Given the description of an element on the screen output the (x, y) to click on. 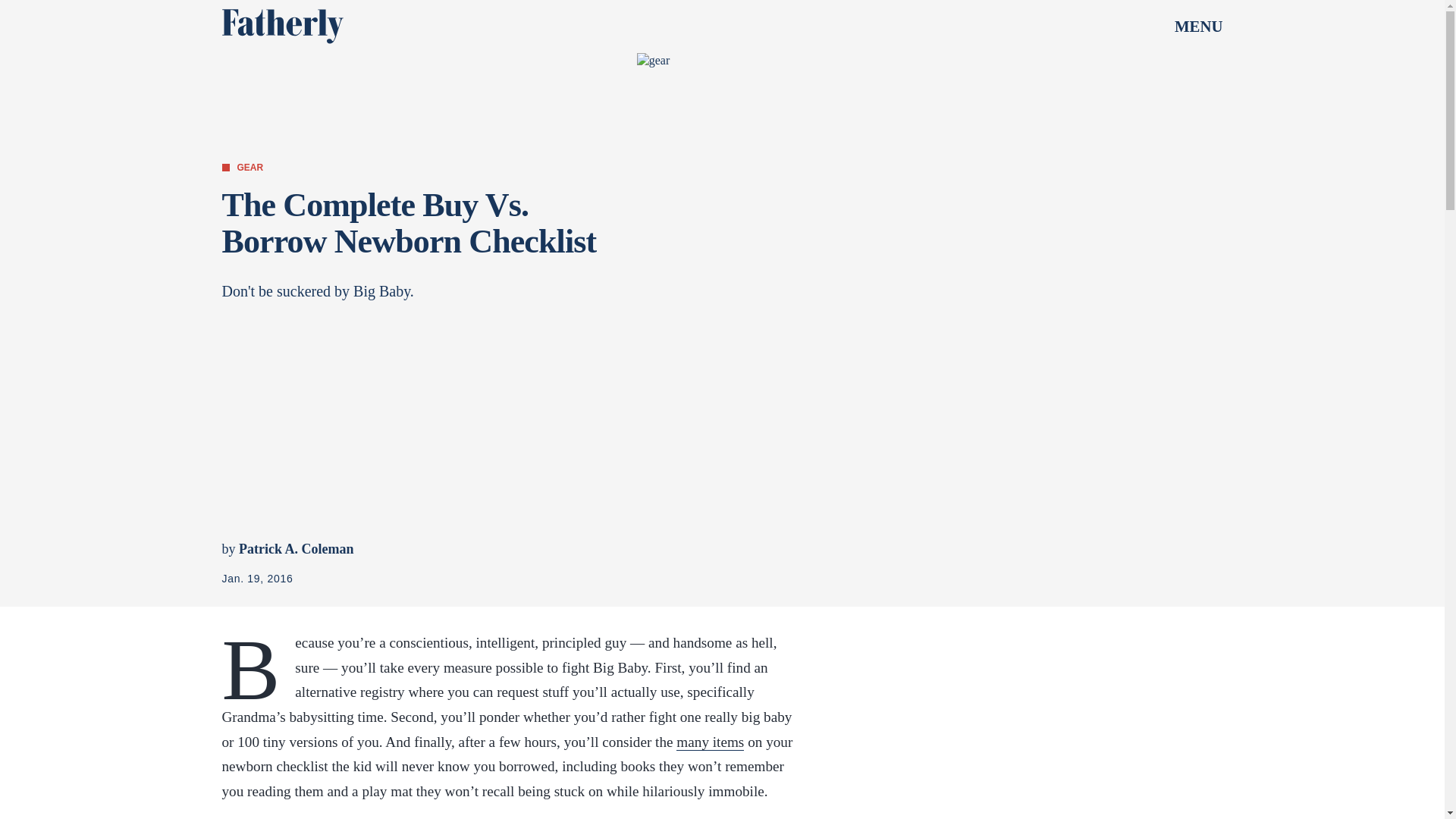
Fatherly (281, 26)
Patrick A. Coleman (295, 548)
many items (710, 742)
